Given the description of an element on the screen output the (x, y) to click on. 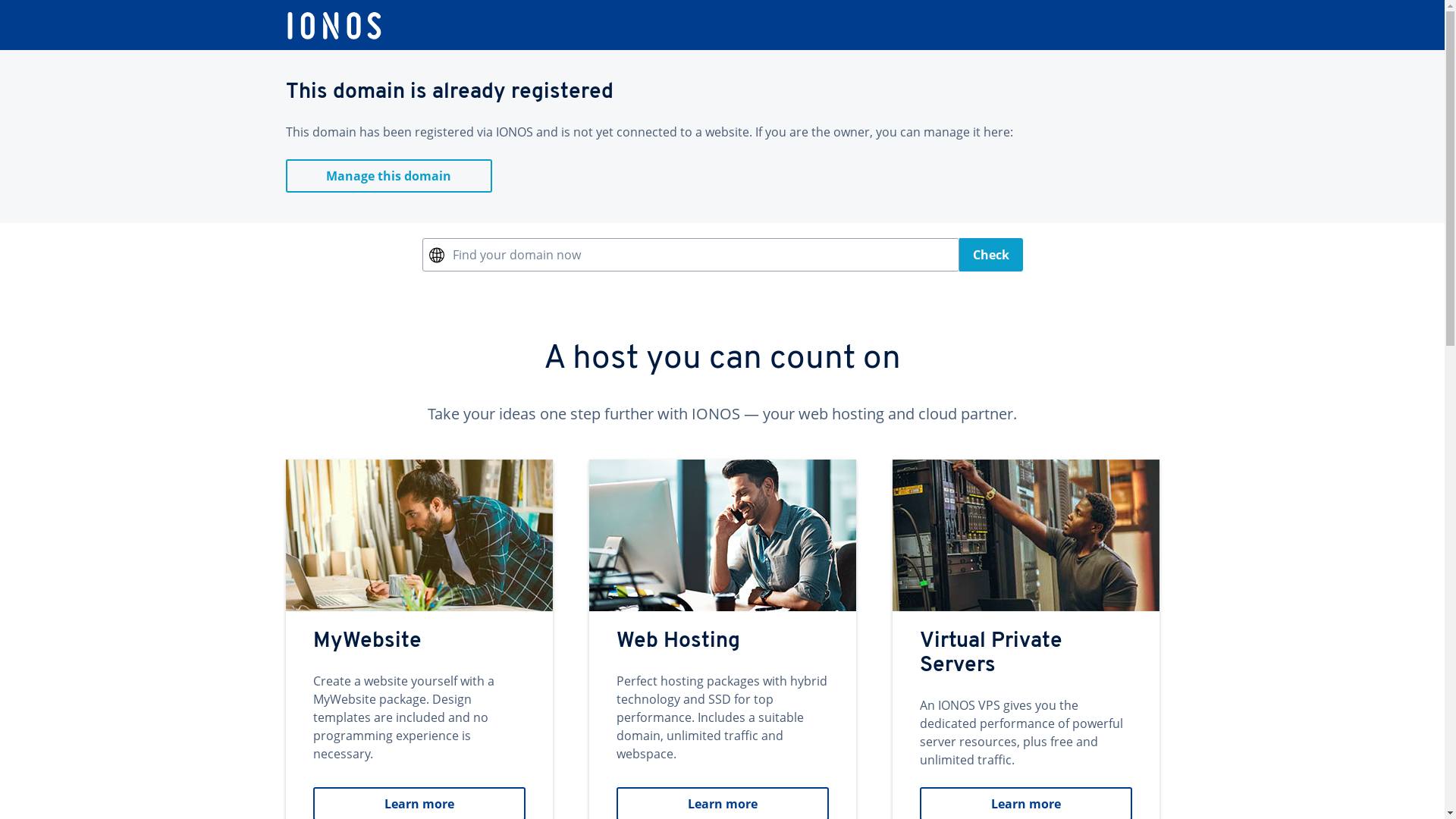
Check Element type: text (990, 254)
Manage this domain Element type: text (388, 175)
